Given the description of an element on the screen output the (x, y) to click on. 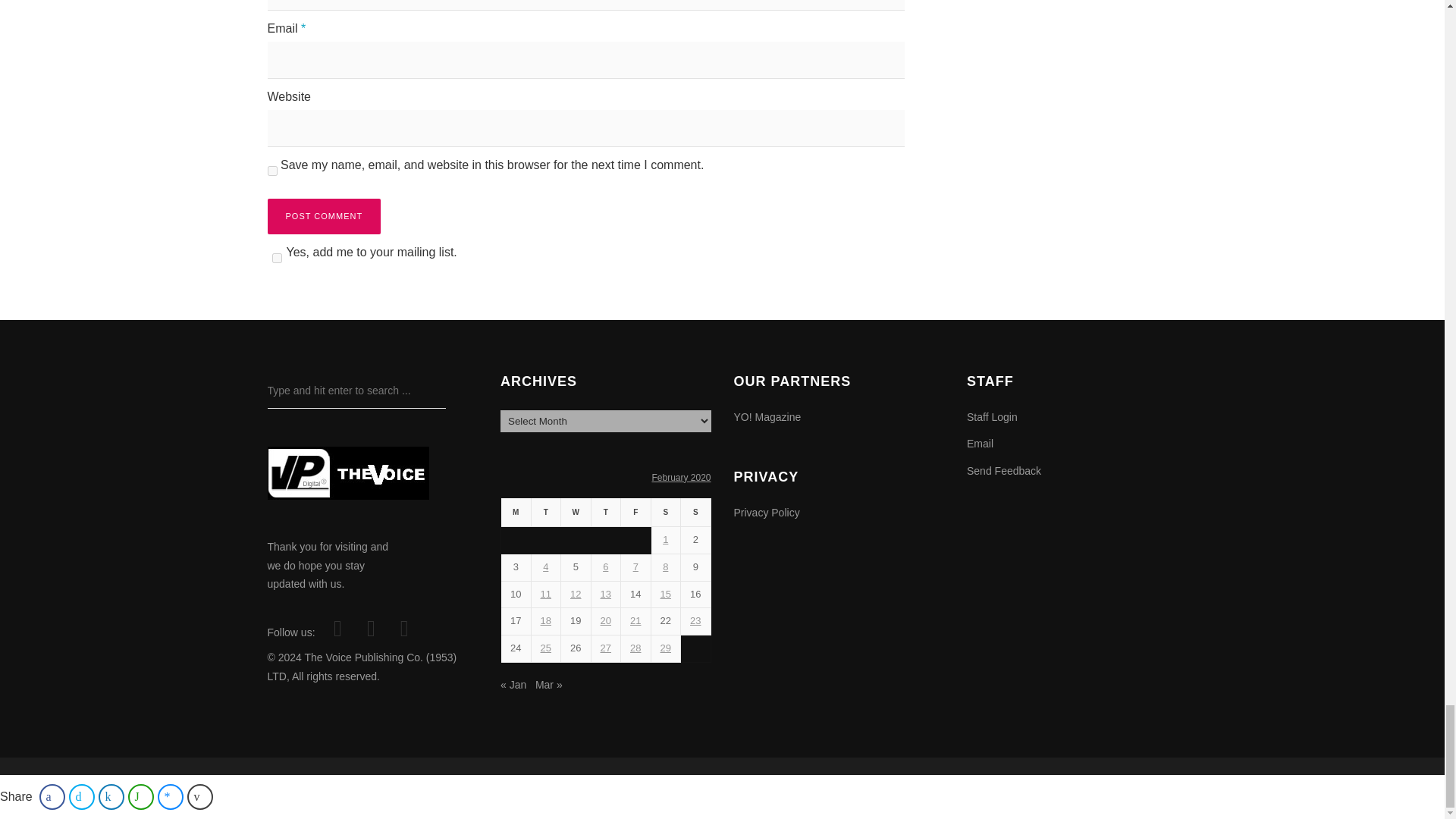
Post Comment (323, 216)
Type and hit enter to search ... (355, 390)
1 (275, 257)
yes (271, 171)
Type and hit enter to search ... (355, 390)
